Given the description of an element on the screen output the (x, y) to click on. 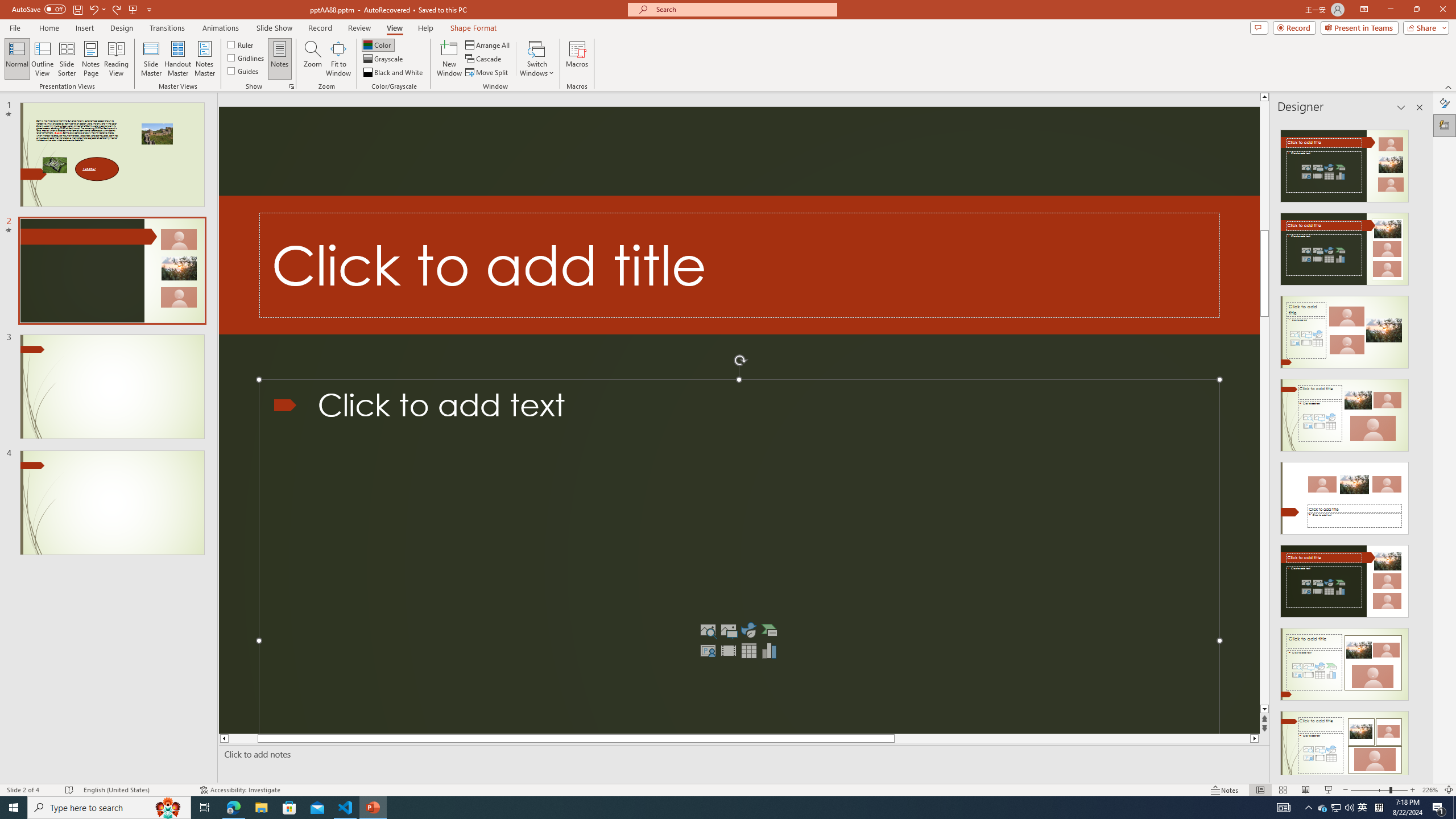
Insert an Icon (748, 629)
Page up (1264, 211)
Insert a SmartArt Graphic (769, 629)
Cascade (484, 58)
Black and White (393, 72)
Pictures (728, 629)
Content Placeholder (739, 556)
